Given the description of an element on the screen output the (x, y) to click on. 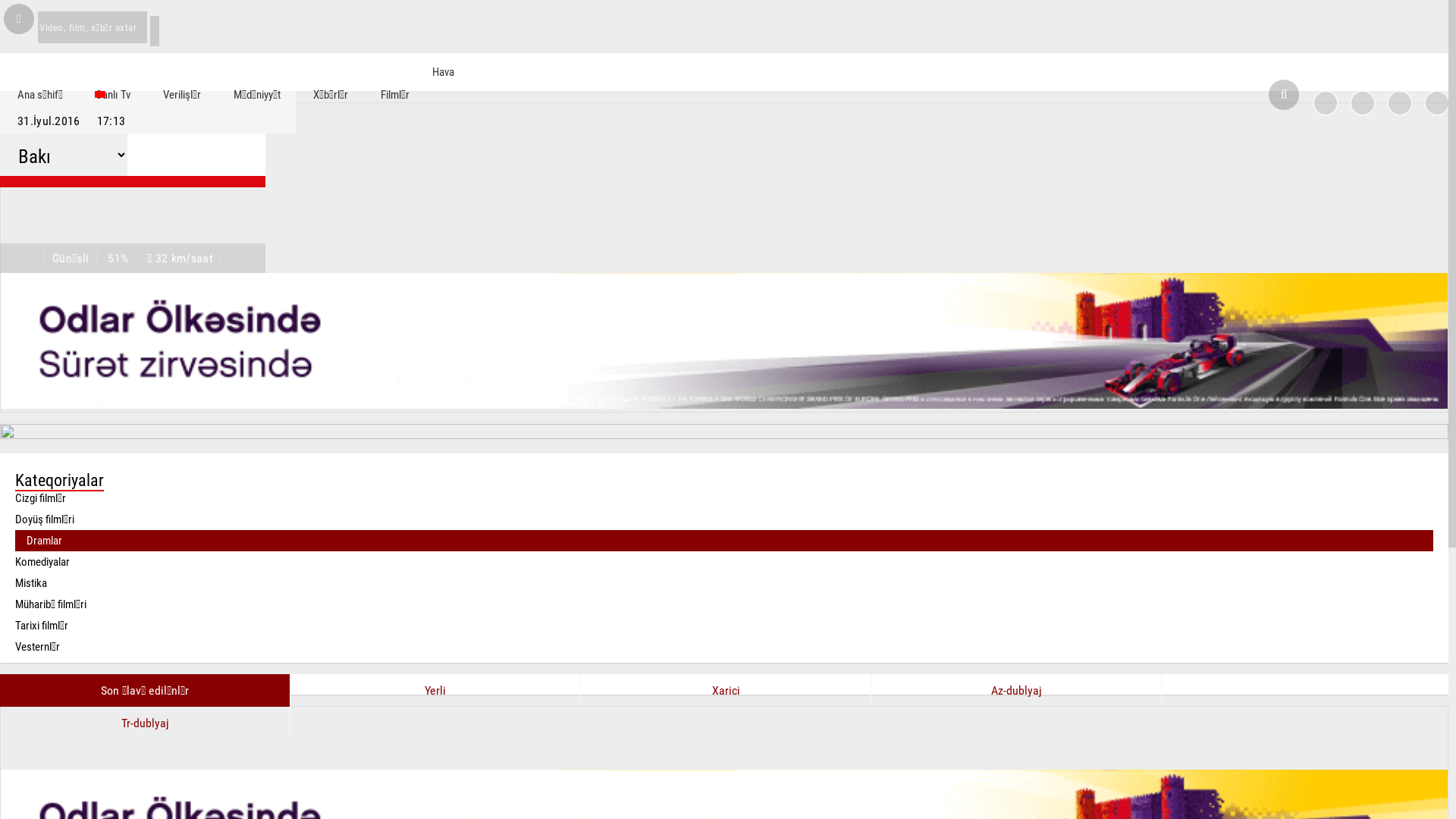
Kateqoriyalar Element type: text (724, 479)
Tr-dublyaj Element type: text (145, 722)
Komediyalar Element type: text (724, 561)
Hava Element type: text (462, 72)
Yerli Element type: text (435, 690)
Xarici Element type: text (725, 690)
Az-dublyaj Element type: text (1016, 690)
Mistika Element type: text (724, 582)
Dramlar Element type: text (724, 540)
